Given the description of an element on the screen output the (x, y) to click on. 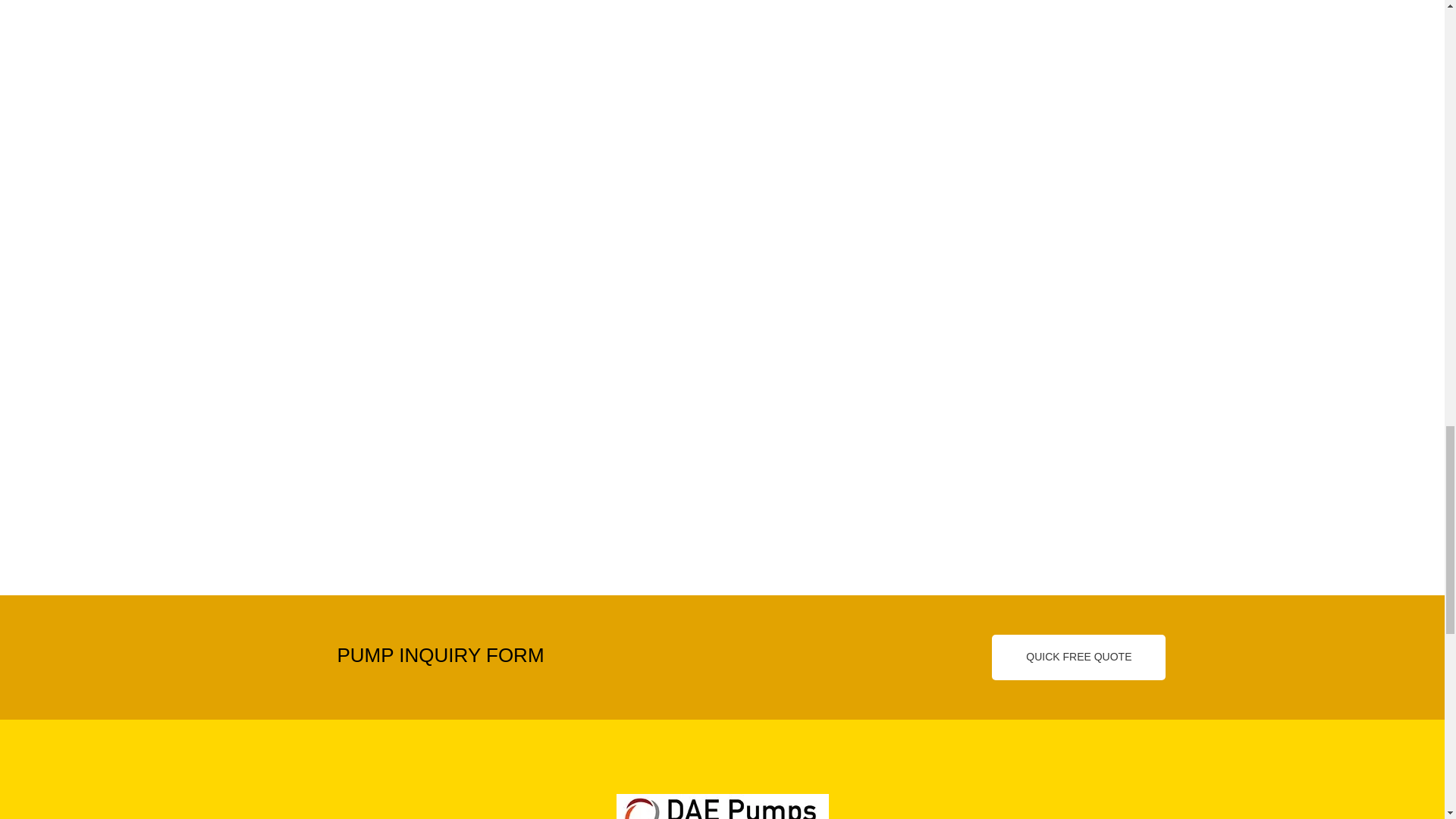
DAE Pumps (721, 806)
